Given the description of an element on the screen output the (x, y) to click on. 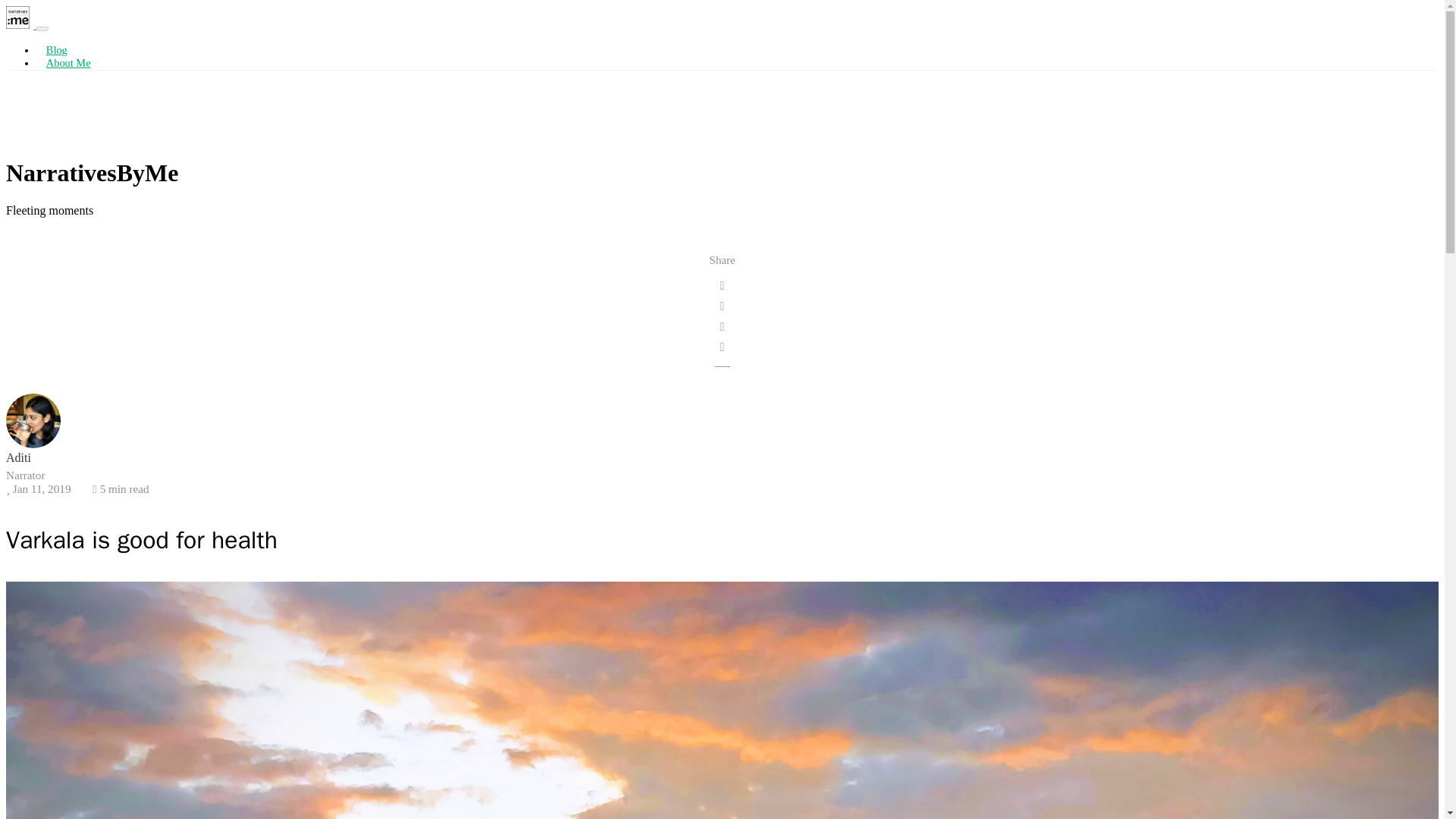
Aditi (17, 457)
Blog (56, 50)
About Me (68, 62)
